Given the description of an element on the screen output the (x, y) to click on. 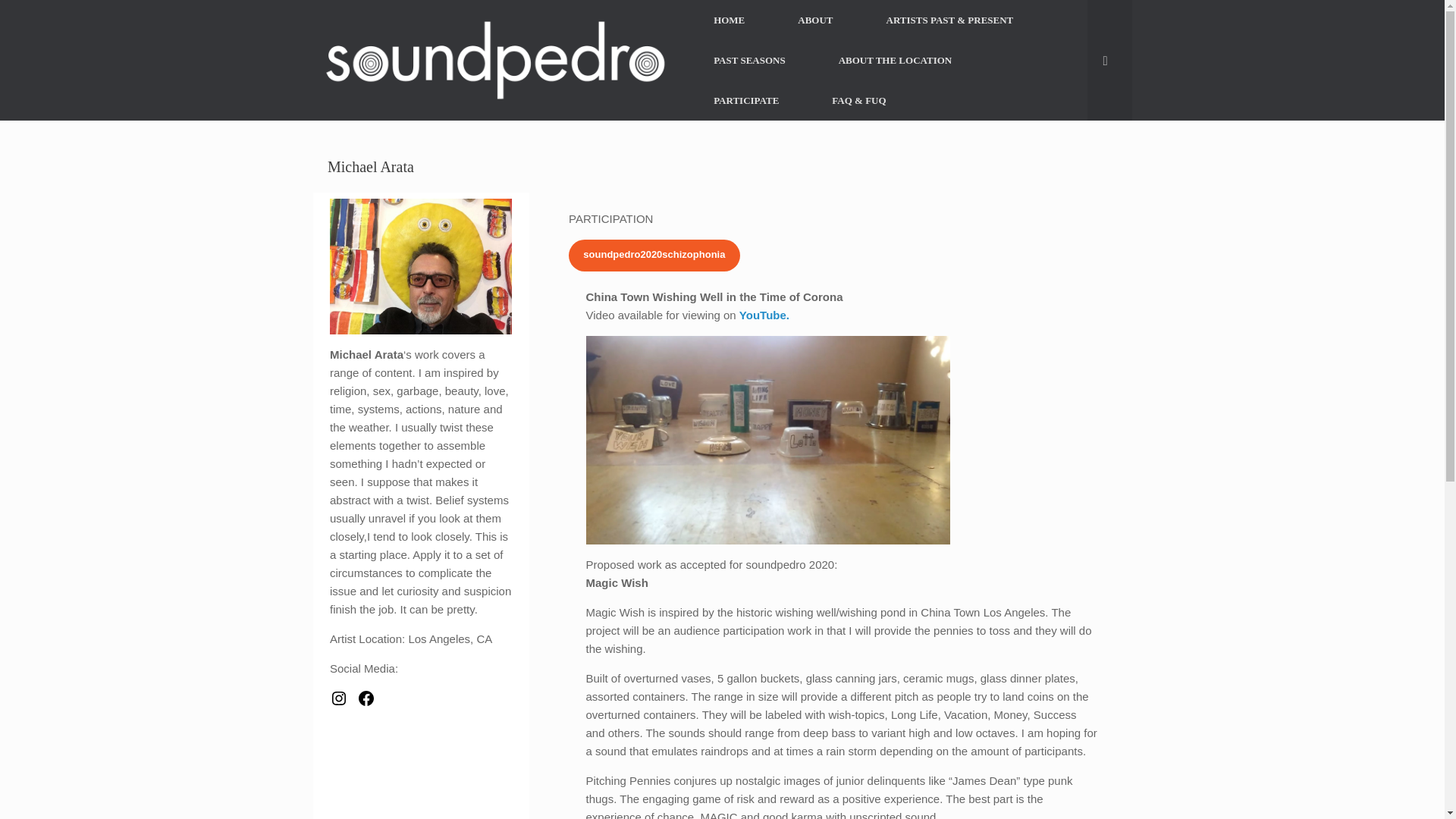
PARTICIPATE (746, 100)
YouTube. (764, 314)
ABOUT (815, 20)
HOME (729, 20)
soundpedro2020schizophonia (654, 255)
PAST SEASONS (749, 60)
Facebook (365, 698)
ABOUT THE LOCATION (895, 60)
Instagram (338, 698)
soundpedro (494, 60)
